Given the description of an element on the screen output the (x, y) to click on. 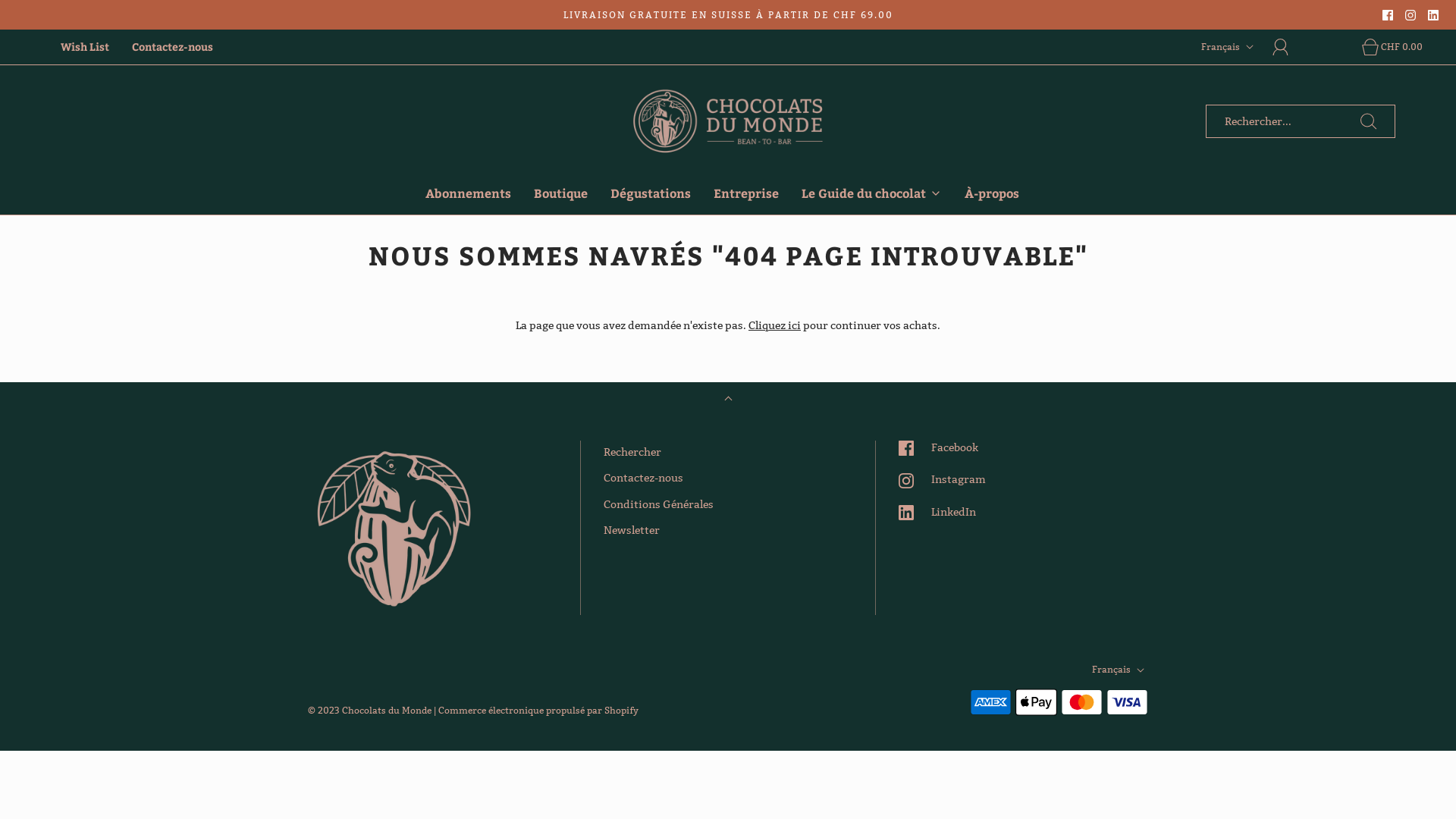
S'identifier Element type: hover (1288, 46)
LinkedIn icon LinkedIn Element type: text (936, 511)
Le Guide du chocolat Element type: text (871, 193)
Contactez-nous Element type: text (643, 477)
Abonnements Element type: text (468, 193)
Contactez-nous Element type: text (172, 46)
Instagram icon Instagram Element type: text (941, 479)
Wish List Element type: text (84, 46)
Facebook icon Facebook Element type: text (938, 447)
CHF 0.00 Element type: text (1378, 46)
Boutique Element type: text (560, 193)
FACEBOOK ICON Element type: text (1387, 14)
Cliquez ici Element type: text (774, 325)
LINKEDIN ICON Element type: text (1432, 14)
Rechercher Element type: text (632, 451)
Newsletter Element type: text (631, 529)
Entreprise Element type: text (745, 193)
INSTAGRAM ICON Element type: text (1410, 14)
